Given the description of an element on the screen output the (x, y) to click on. 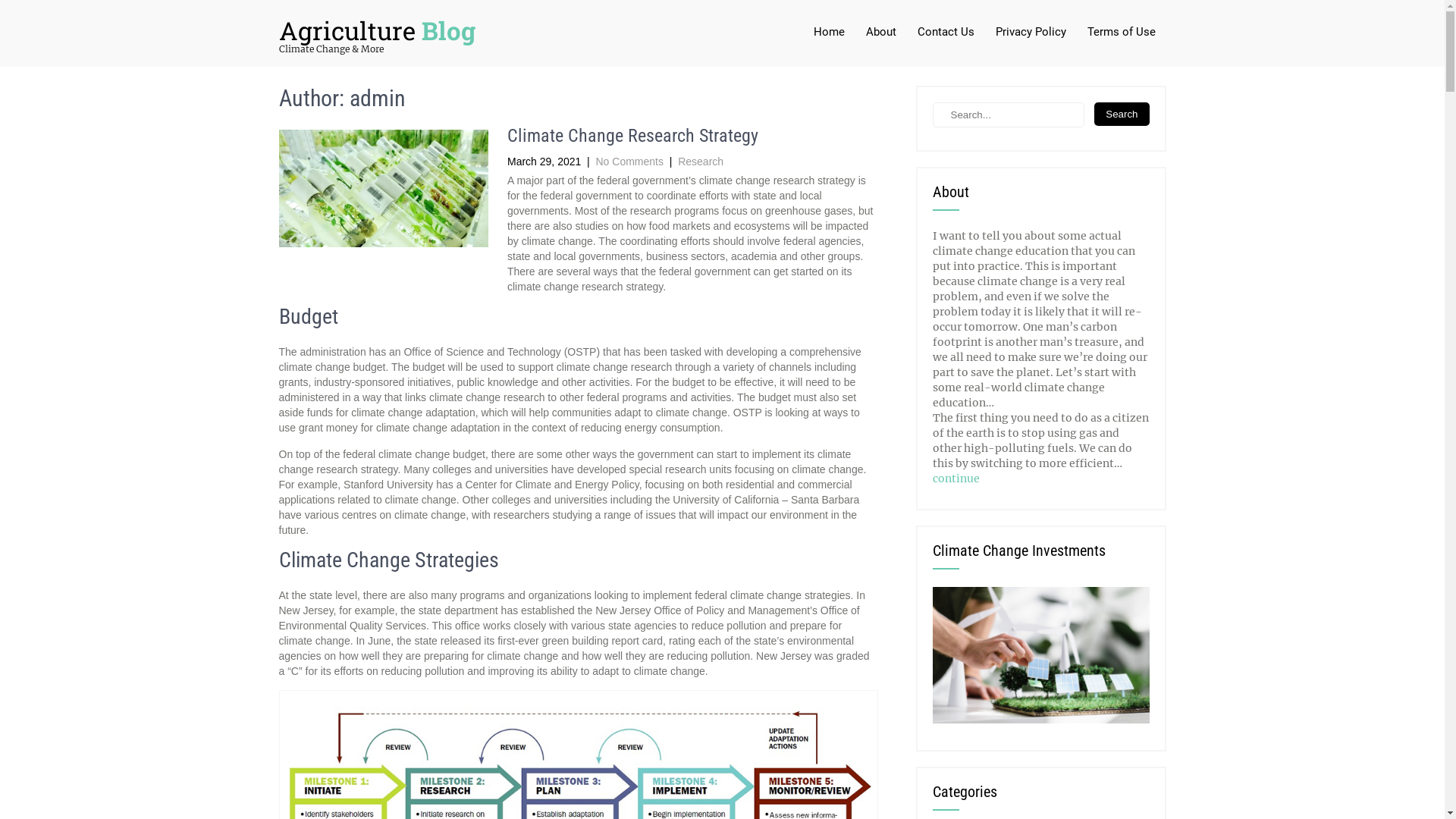
Search Element type: text (1121, 113)
About Element type: text (880, 33)
continue Element type: text (955, 478)
Home Element type: text (828, 33)
No Comments Element type: text (629, 161)
Privacy Policy Element type: text (1030, 33)
Terms of Use Element type: text (1121, 33)
Contact Us Element type: text (945, 33)
Agriculture Blog
Climate Change & More Element type: text (377, 37)
Climate Change Research Strategy Element type: text (632, 135)
Research Element type: text (700, 161)
